Given the description of an element on the screen output the (x, y) to click on. 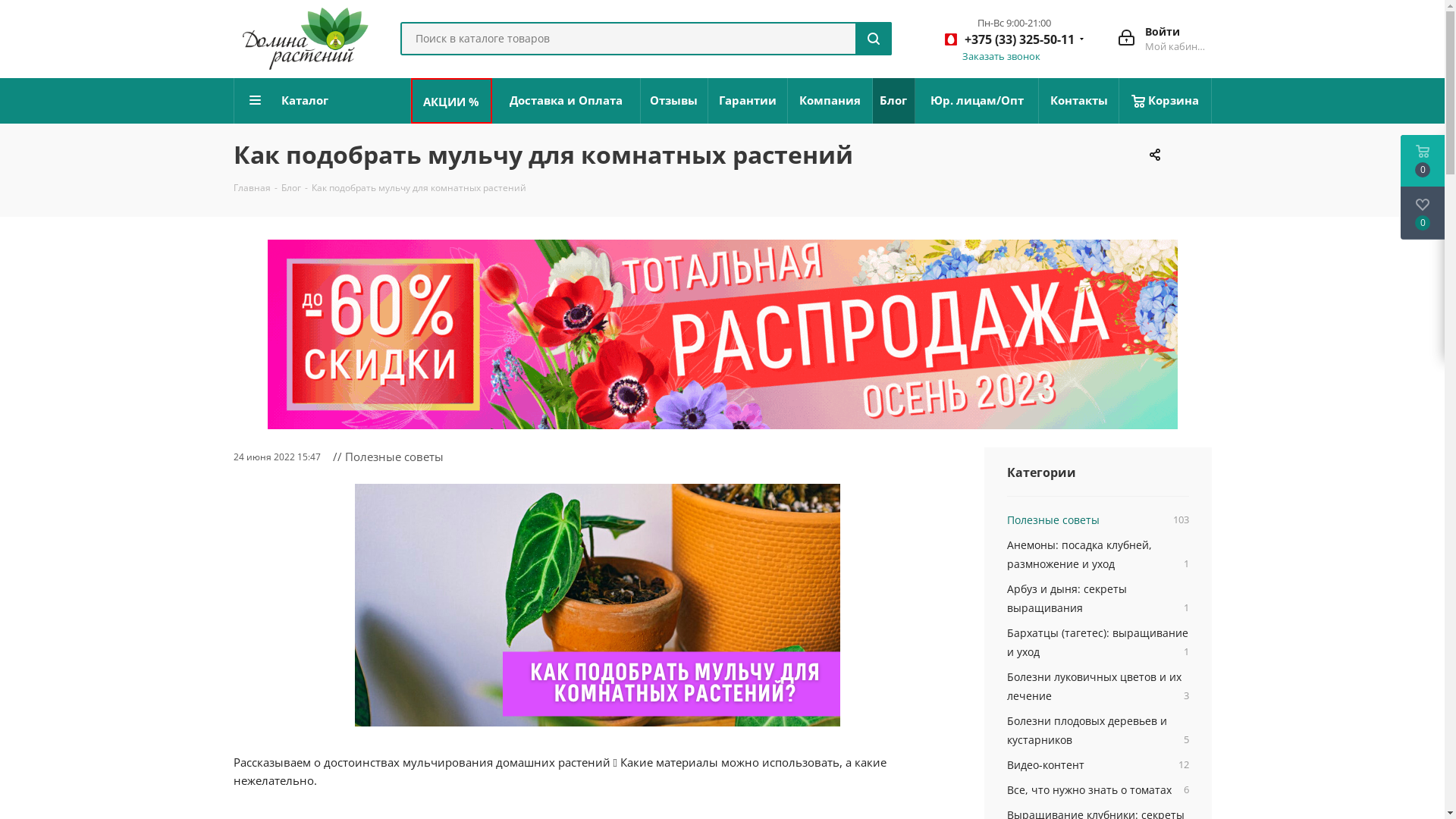
+375 (33) 325-50-11 Element type: text (1009, 42)
